Given the description of an element on the screen output the (x, y) to click on. 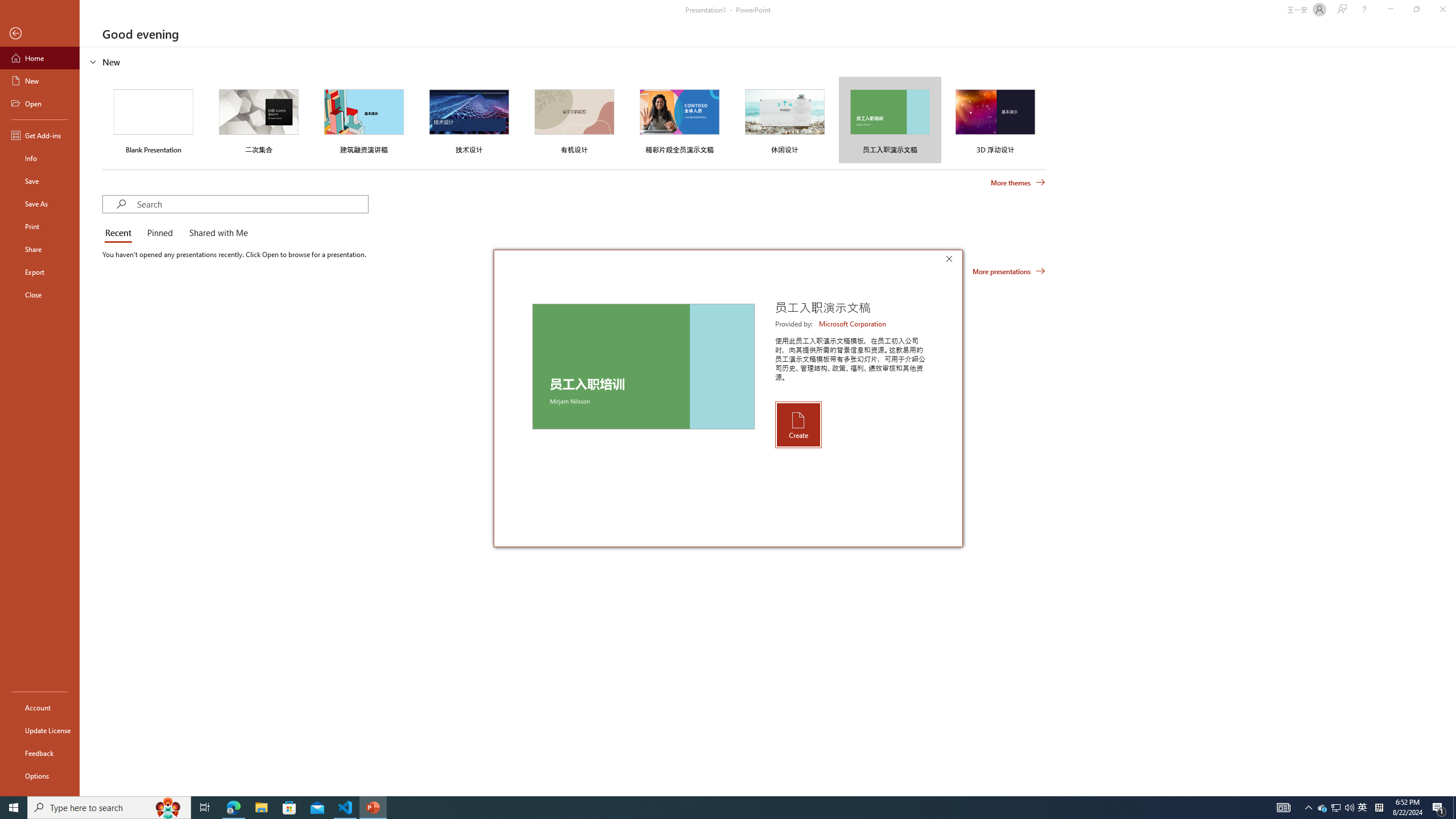
Recent (119, 233)
New (40, 80)
Save As (40, 203)
Feedback (40, 753)
Blank Presentation (153, 119)
Account (40, 707)
